Given the description of an element on the screen output the (x, y) to click on. 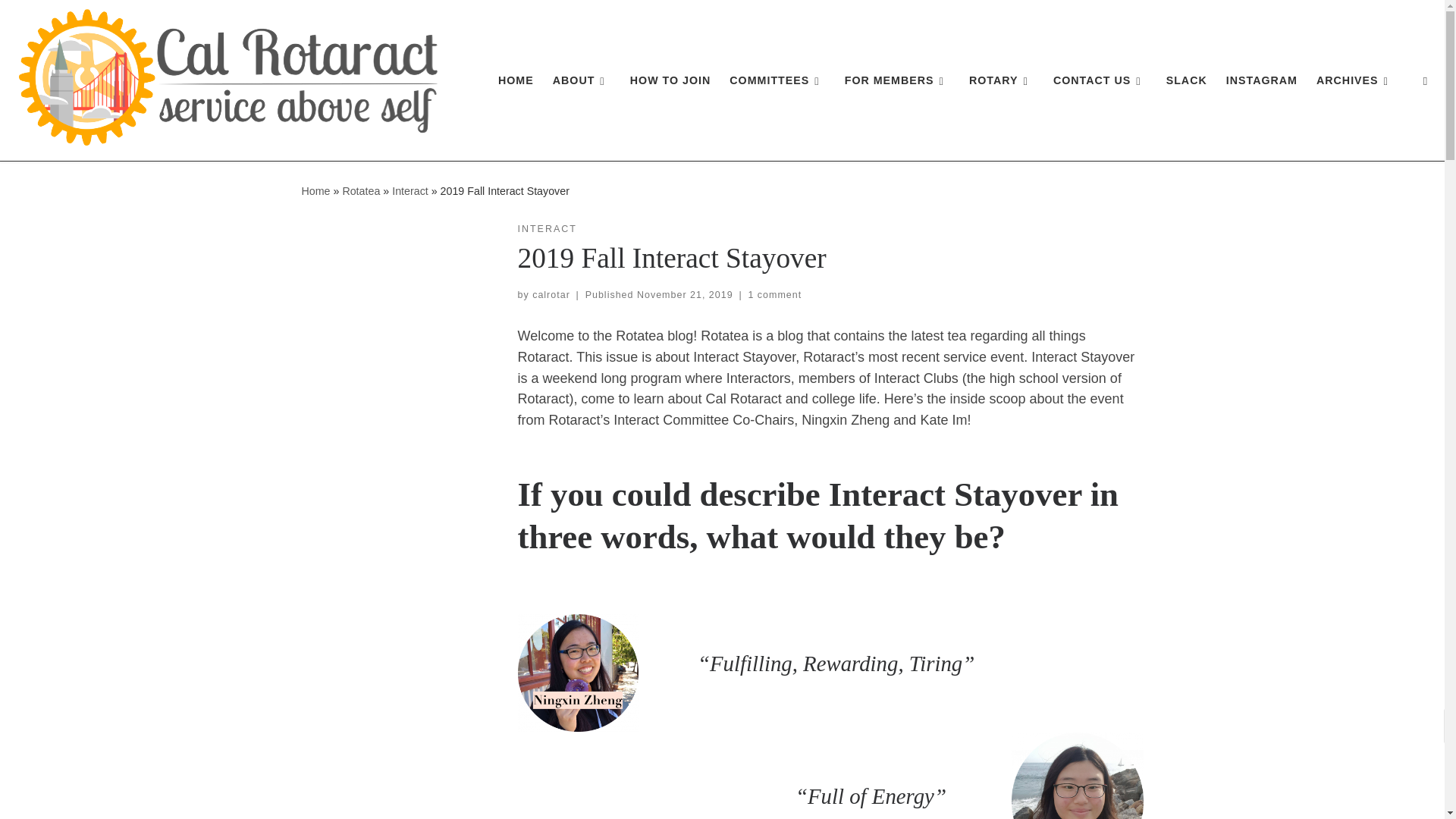
Rotatea (361, 191)
SLACK (1185, 80)
View all posts by calrotar (551, 294)
Skip to content (60, 20)
4:29 am (685, 294)
FOR MEMBERS (897, 80)
View all posts in Interact (546, 228)
Cal Rotaract (315, 191)
CONTACT US (1099, 80)
HOME (515, 80)
